Given the description of an element on the screen output the (x, y) to click on. 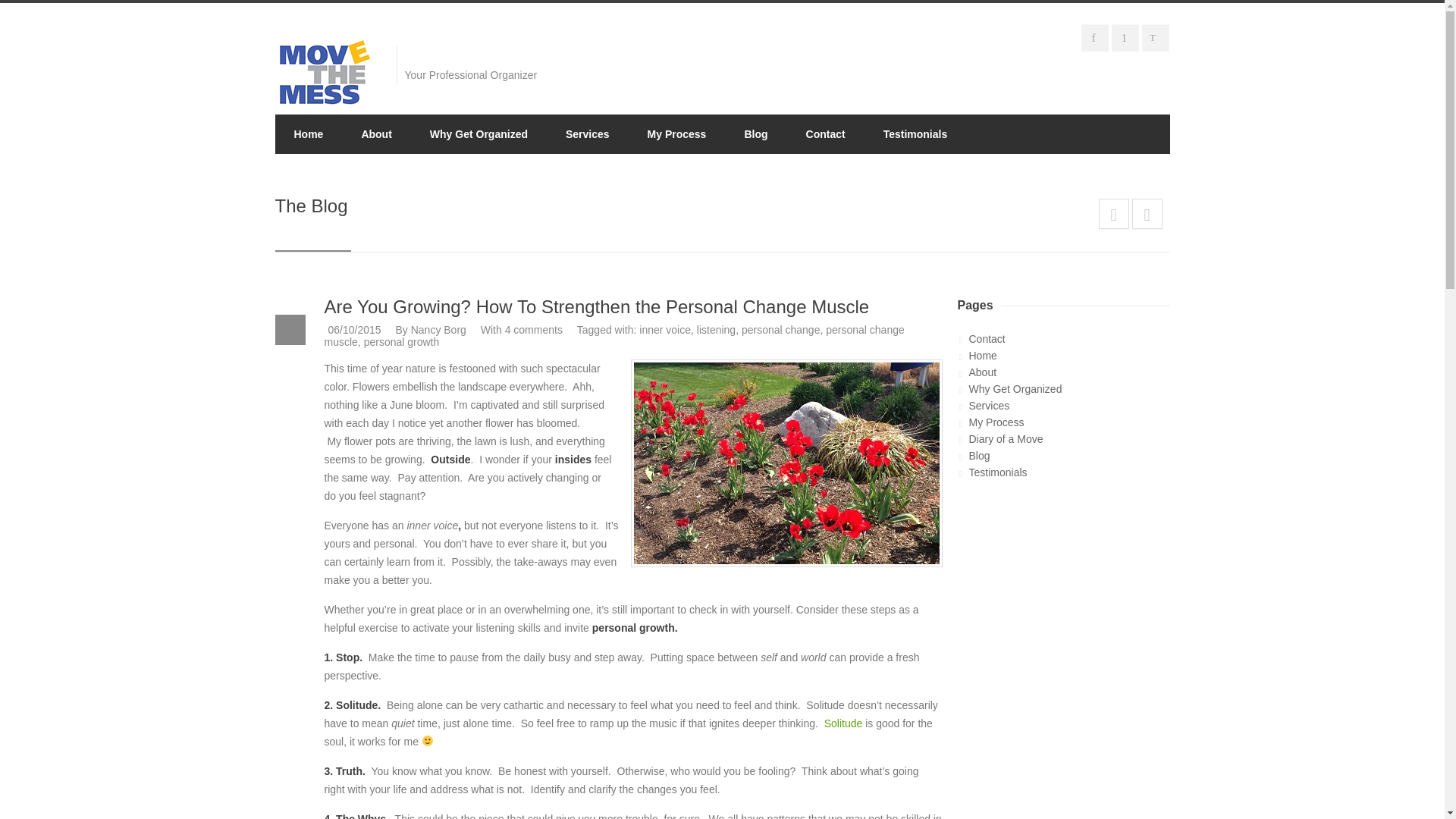
Solitude (843, 723)
facebook (1097, 40)
Home (308, 133)
listening (716, 329)
Contact (1069, 338)
My Process (1069, 422)
inner voice (664, 329)
8:59 pm (353, 329)
Blog (755, 133)
pinterest (1127, 40)
Blog (1069, 455)
personal change (781, 329)
Contact (825, 133)
Services (587, 133)
About (376, 133)
